Given the description of an element on the screen output the (x, y) to click on. 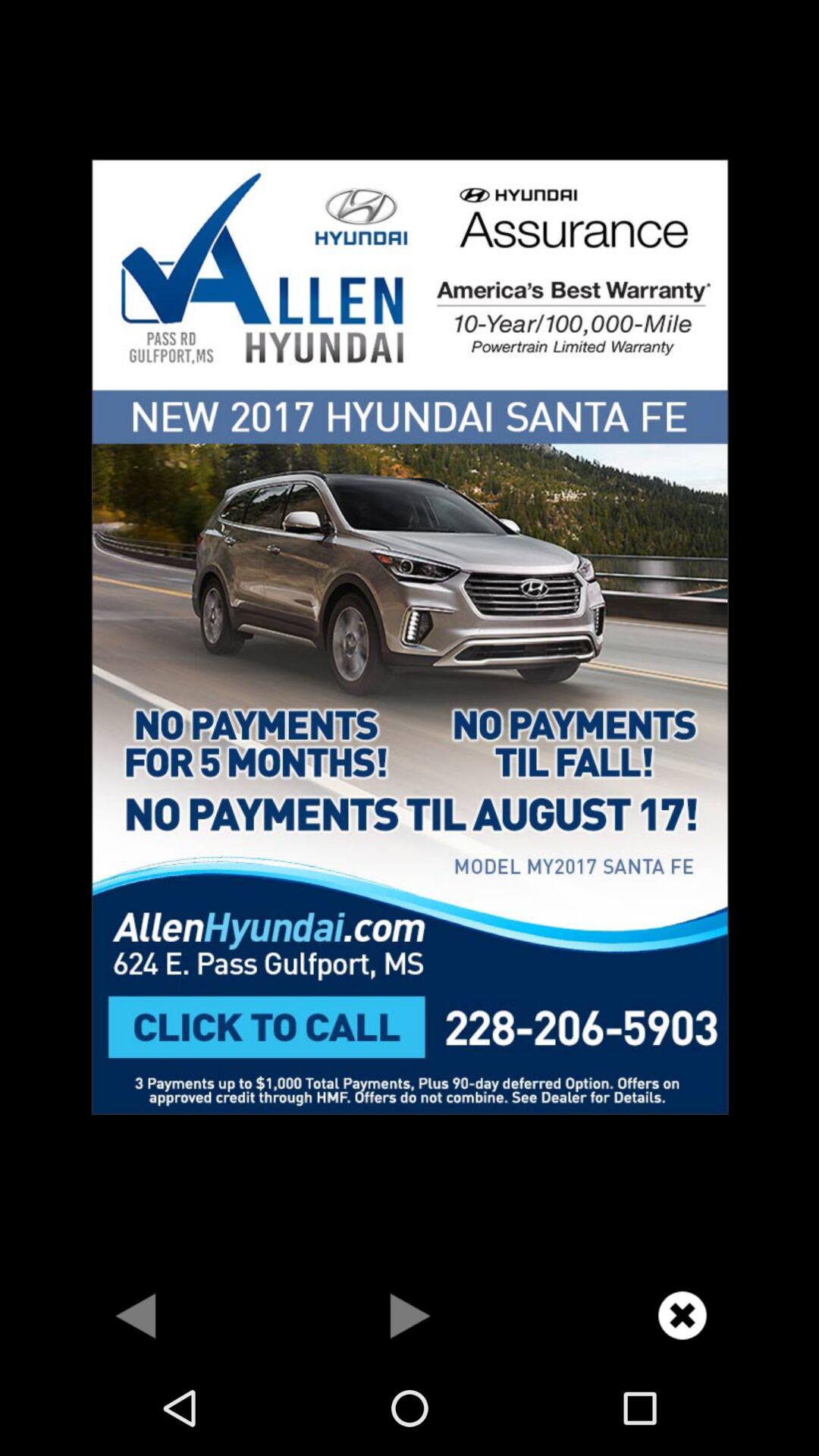
go back (136, 1315)
